Given the description of an element on the screen output the (x, y) to click on. 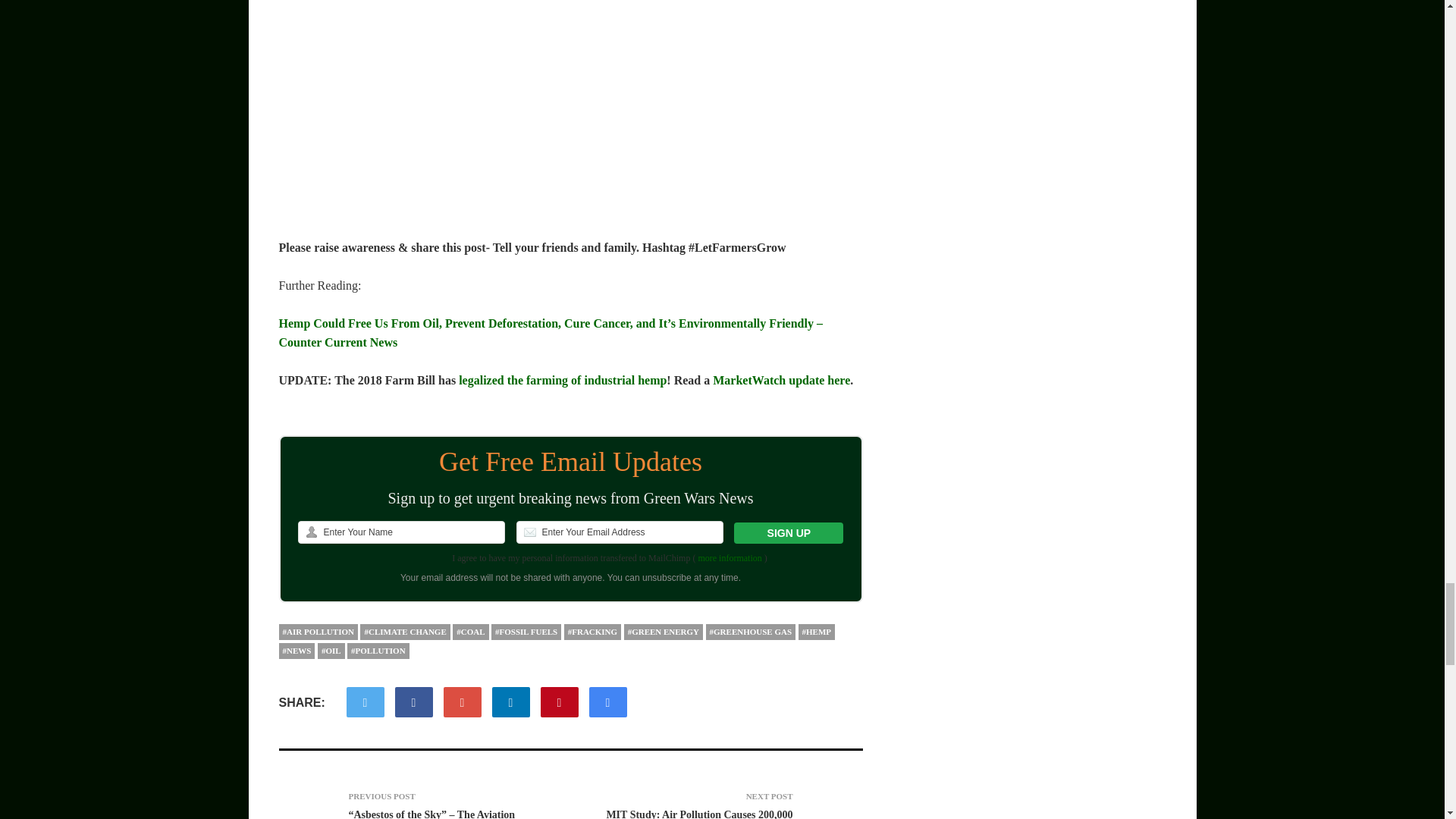
SIGN UP (788, 532)
